Given the description of an element on the screen output the (x, y) to click on. 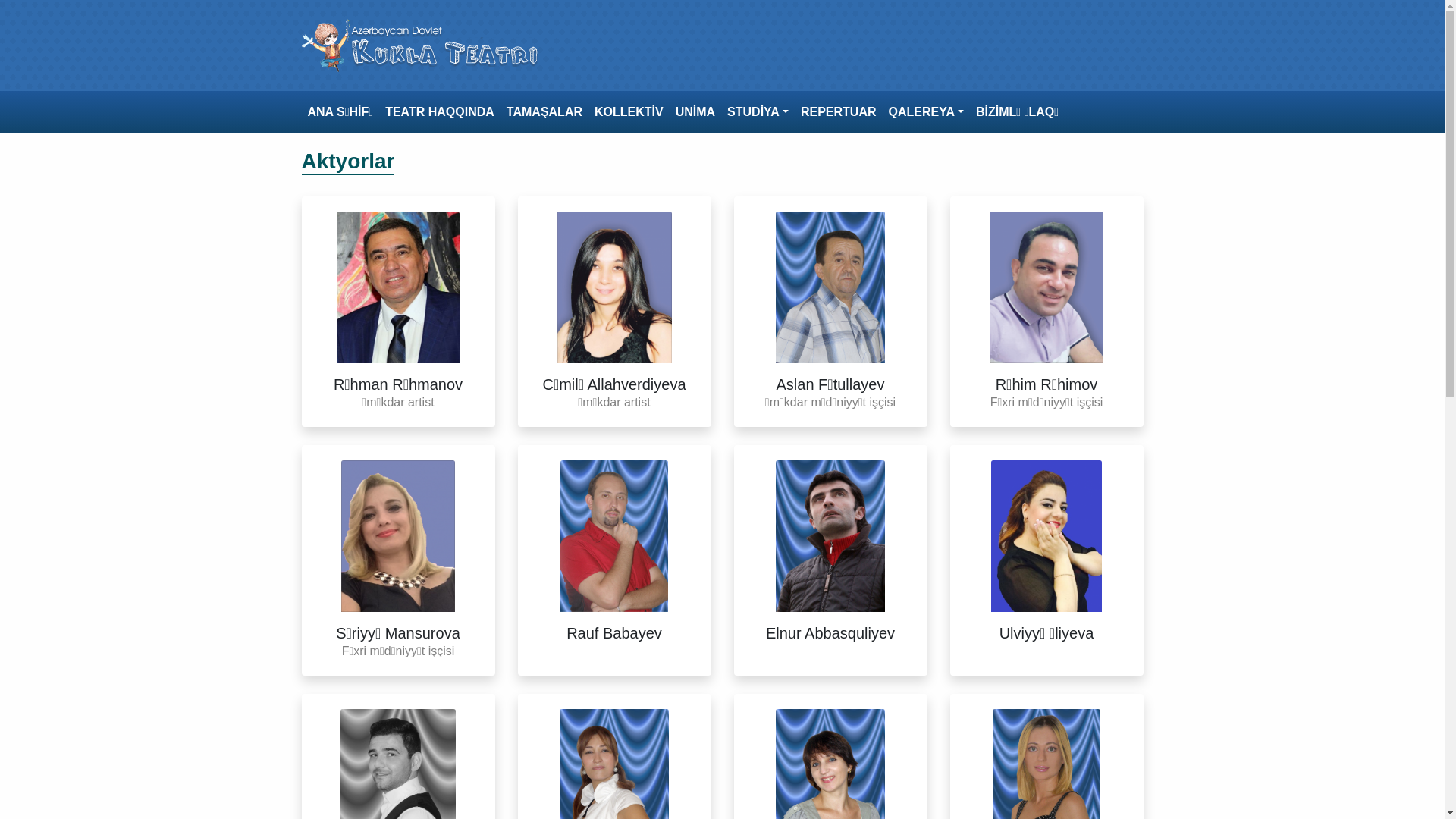
QALEREYA Element type: text (926, 112)
REPERTUAR Element type: text (838, 112)
TEATR HAQQINDA Element type: text (439, 112)
